Given the description of an element on the screen output the (x, y) to click on. 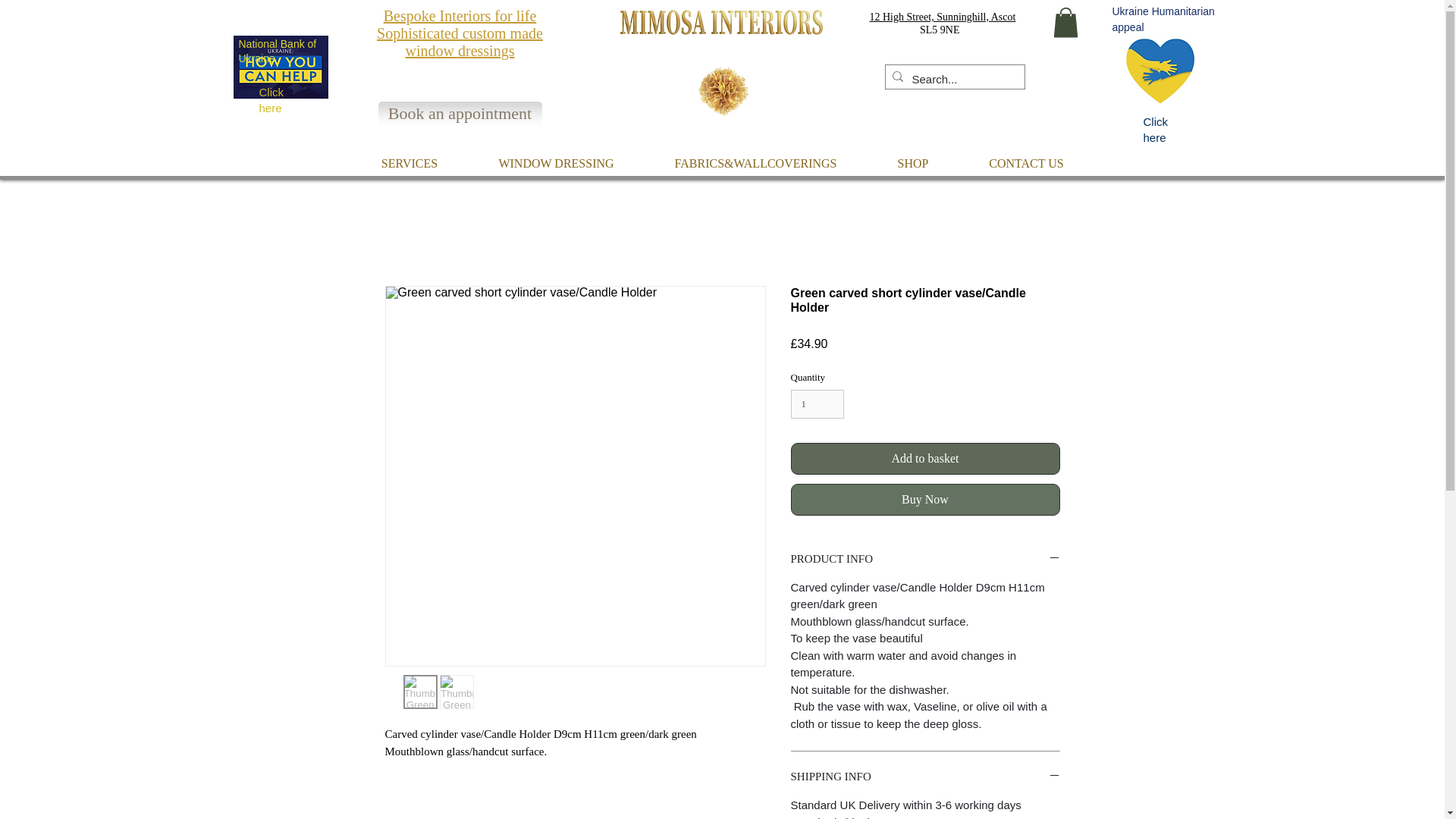
Add to basket (924, 459)
SHIPPING INFO (924, 776)
12 High Street, Sunninghill, Ascot (941, 16)
Book an appointment (459, 113)
CONTACT US (1025, 163)
WINDOW DRESSING (556, 163)
PRODUCT INFO (924, 559)
1 (817, 403)
Buy Now (924, 499)
